Given the description of an element on the screen output the (x, y) to click on. 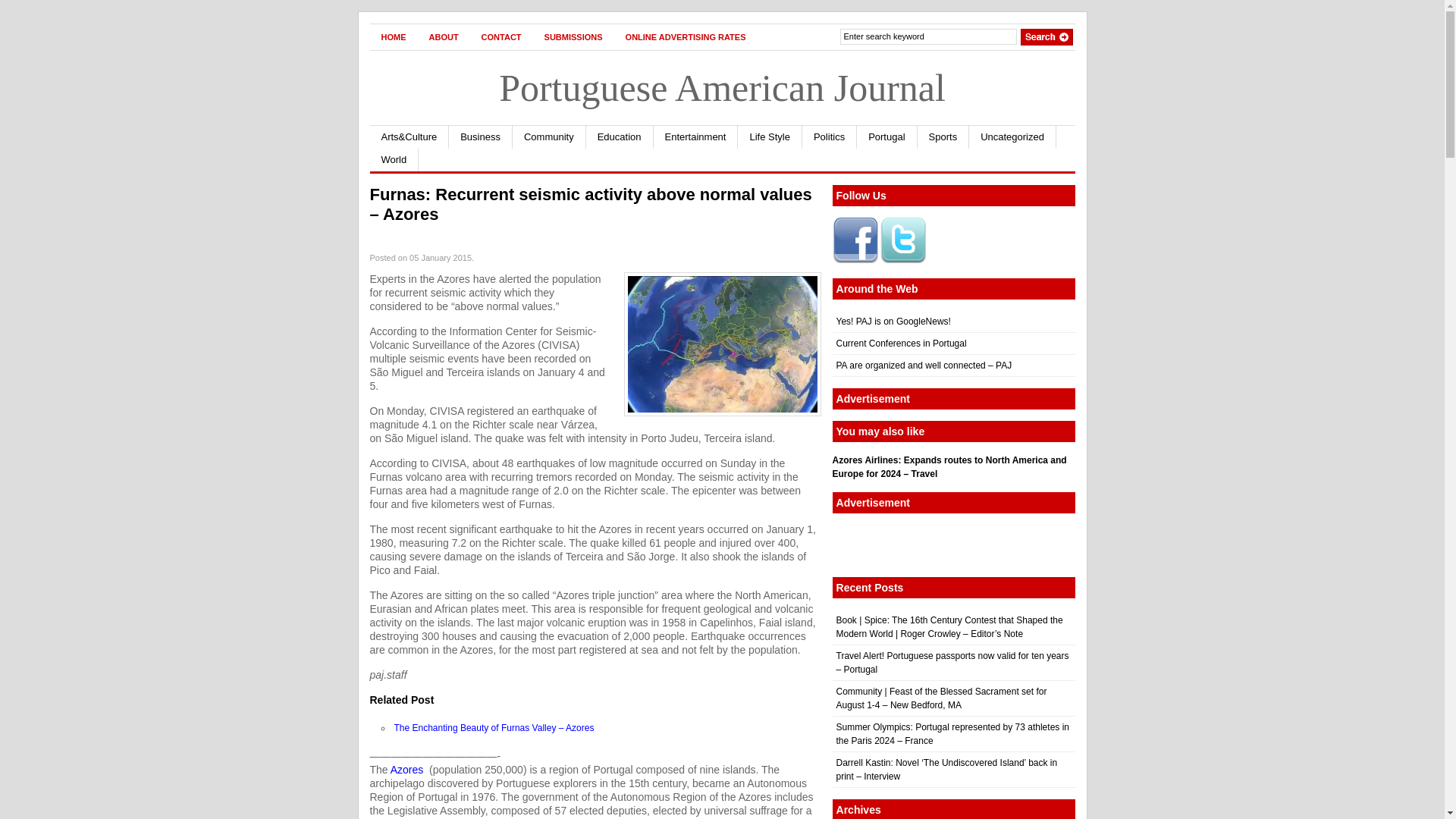
ABOUT (442, 36)
ONLINE ADVERTISING RATES (685, 36)
a (406, 769)
Politics (829, 137)
Portuguese American Journal (721, 87)
HOME (393, 36)
Go (1046, 36)
Community (549, 137)
Portugal (887, 137)
Entertainment (695, 137)
